Given the description of an element on the screen output the (x, y) to click on. 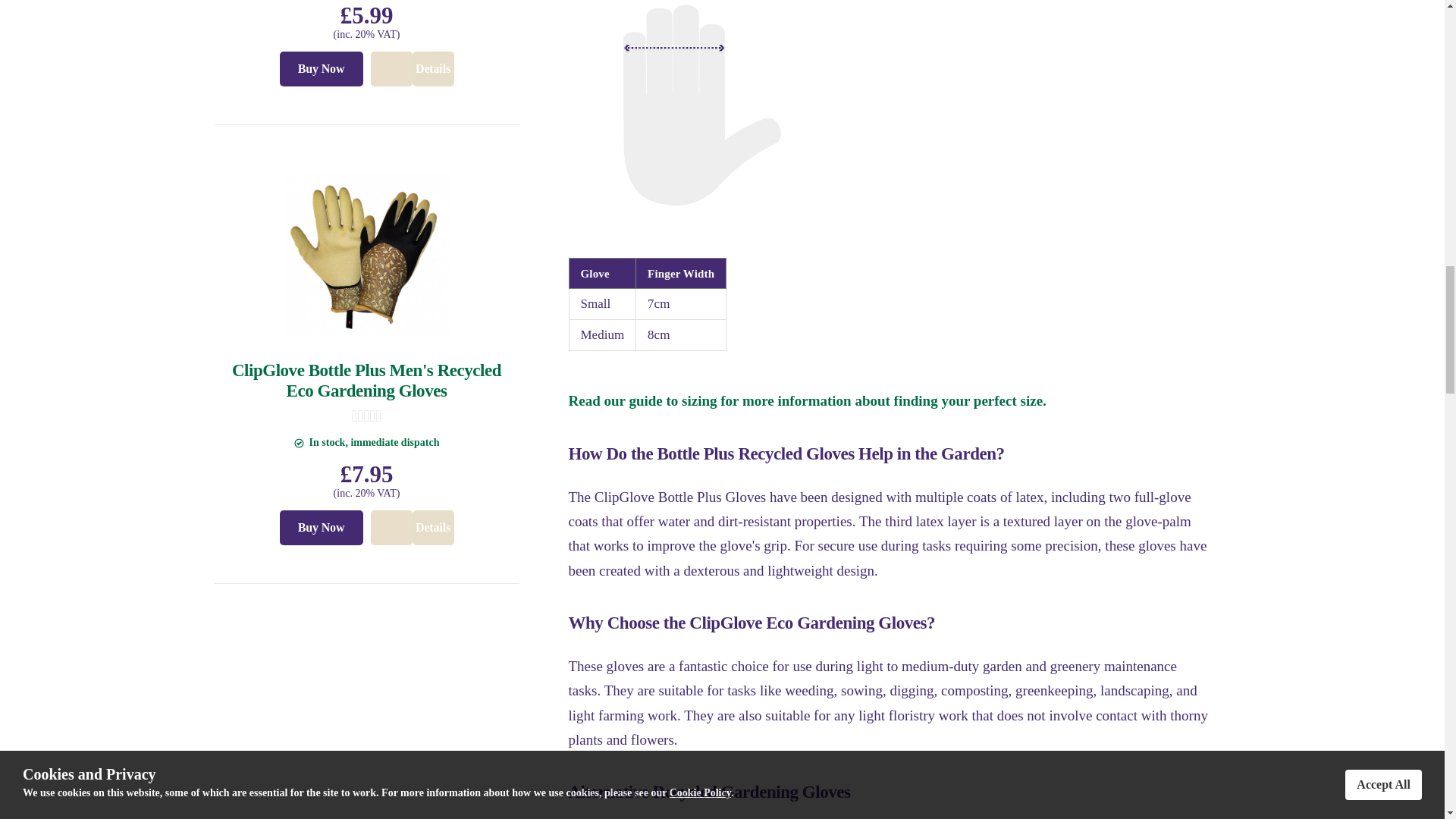
Full product details... (410, 68)
Full product details... (410, 527)
Buy Now (320, 527)
Details (433, 68)
In stock, immediate dispatch (299, 442)
Buy Now (320, 527)
ClipGlove Bottle Plus Men's Recycled Eco Gardening Gloves (365, 381)
Buy Now (320, 68)
Details (410, 68)
Buy Now (320, 68)
